Given the description of an element on the screen output the (x, y) to click on. 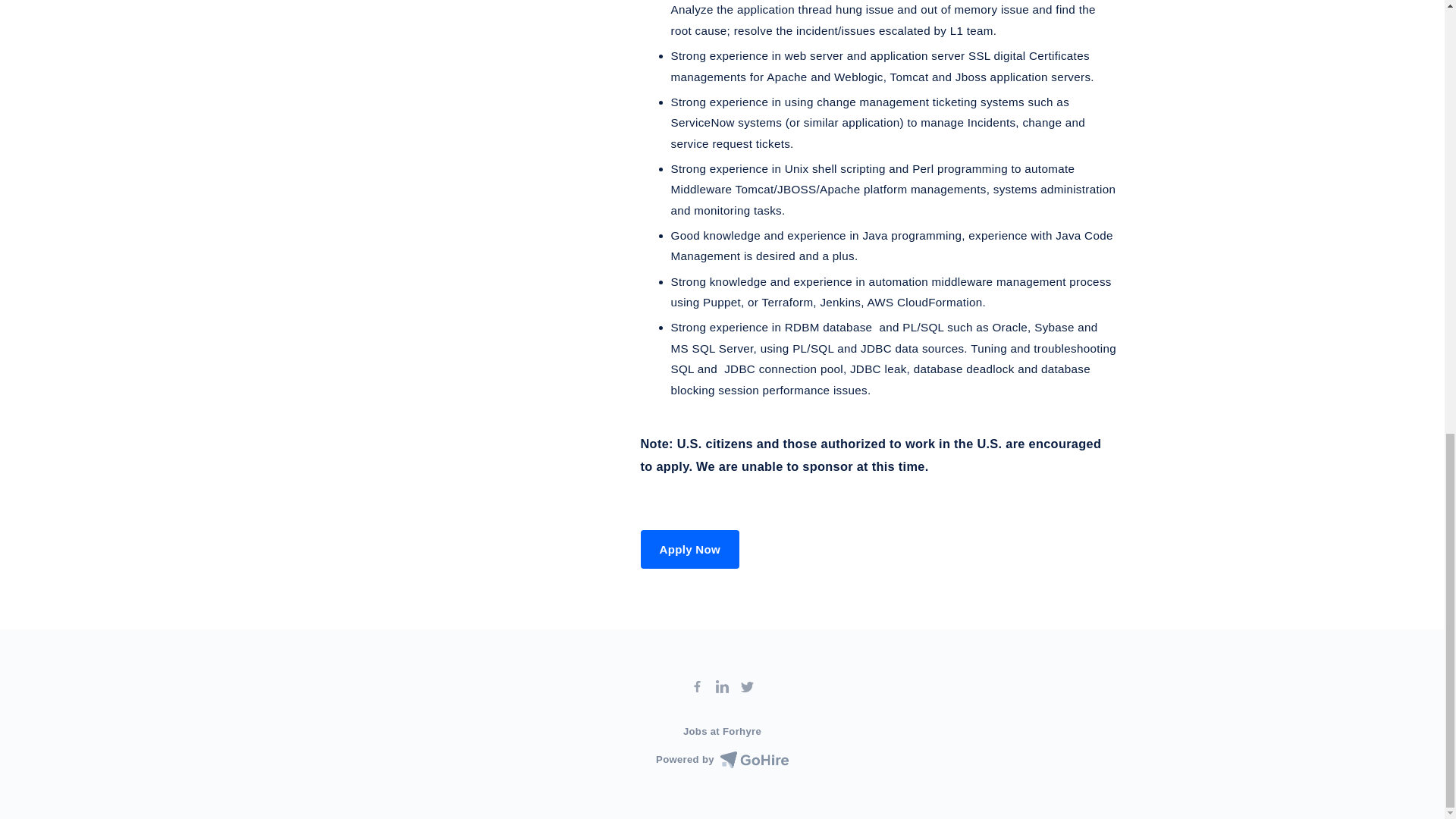
Powered by (722, 759)
Apply Now (689, 548)
